Given the description of an element on the screen output the (x, y) to click on. 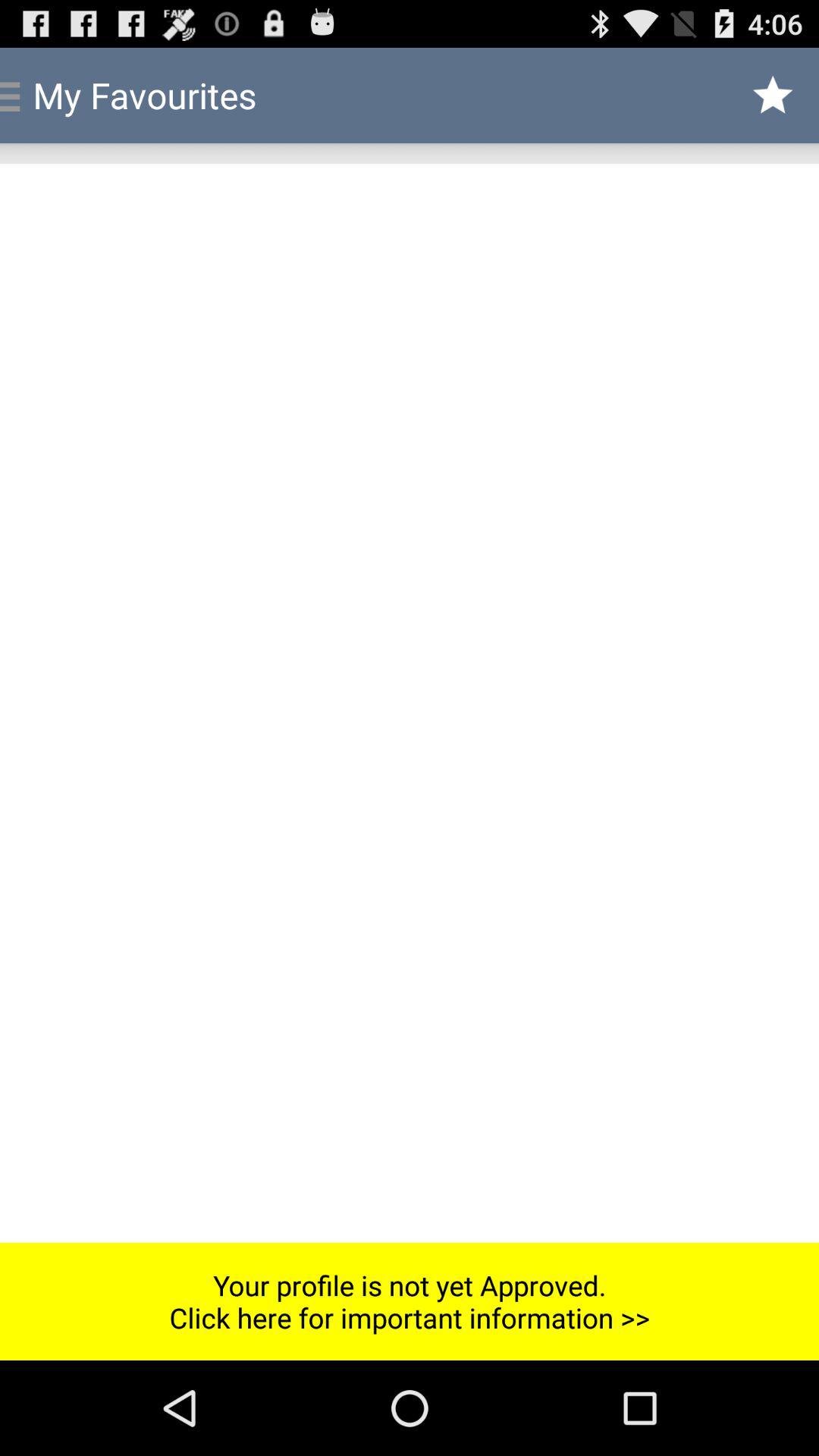
turn off icon next to my favourites icon (773, 95)
